Given the description of an element on the screen output the (x, y) to click on. 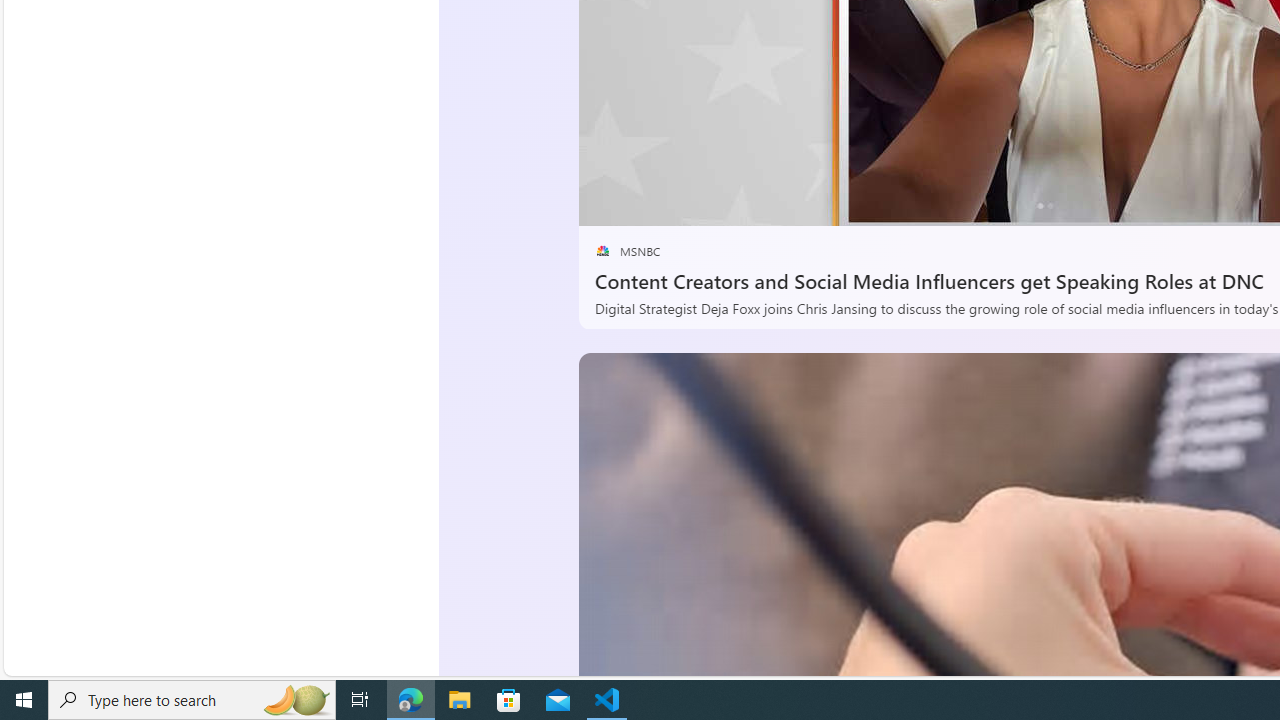
placeholder MSNBC (626, 251)
Seek Forward (688, 203)
Seek Back (648, 203)
placeholder (601, 251)
Pause (607, 203)
